Given the description of an element on the screen output the (x, y) to click on. 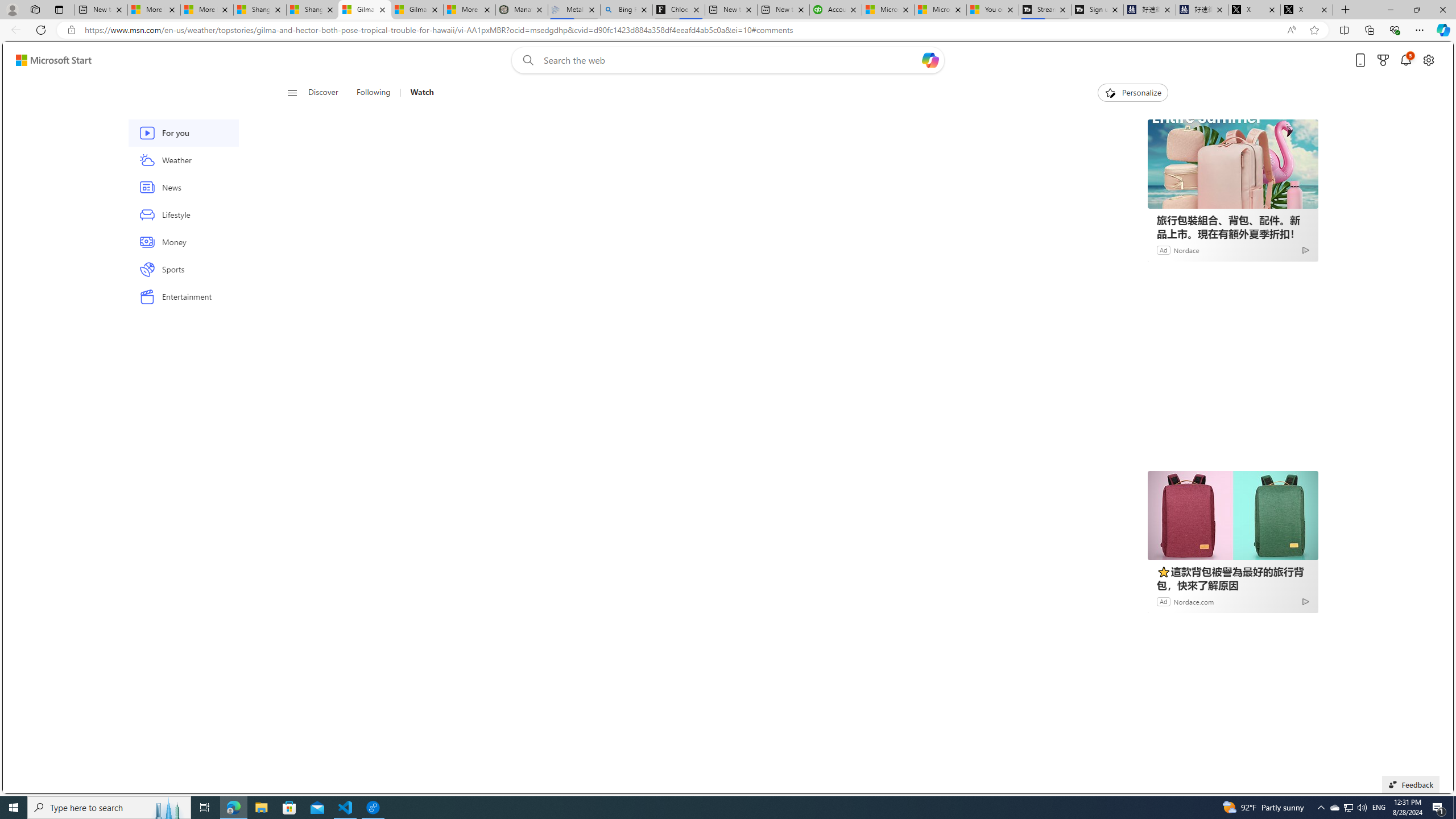
Skip to content (49, 59)
Accounting Software for Accountants, CPAs and Bookkeepers (835, 9)
Nordace.com (1193, 601)
